Given the description of an element on the screen output the (x, y) to click on. 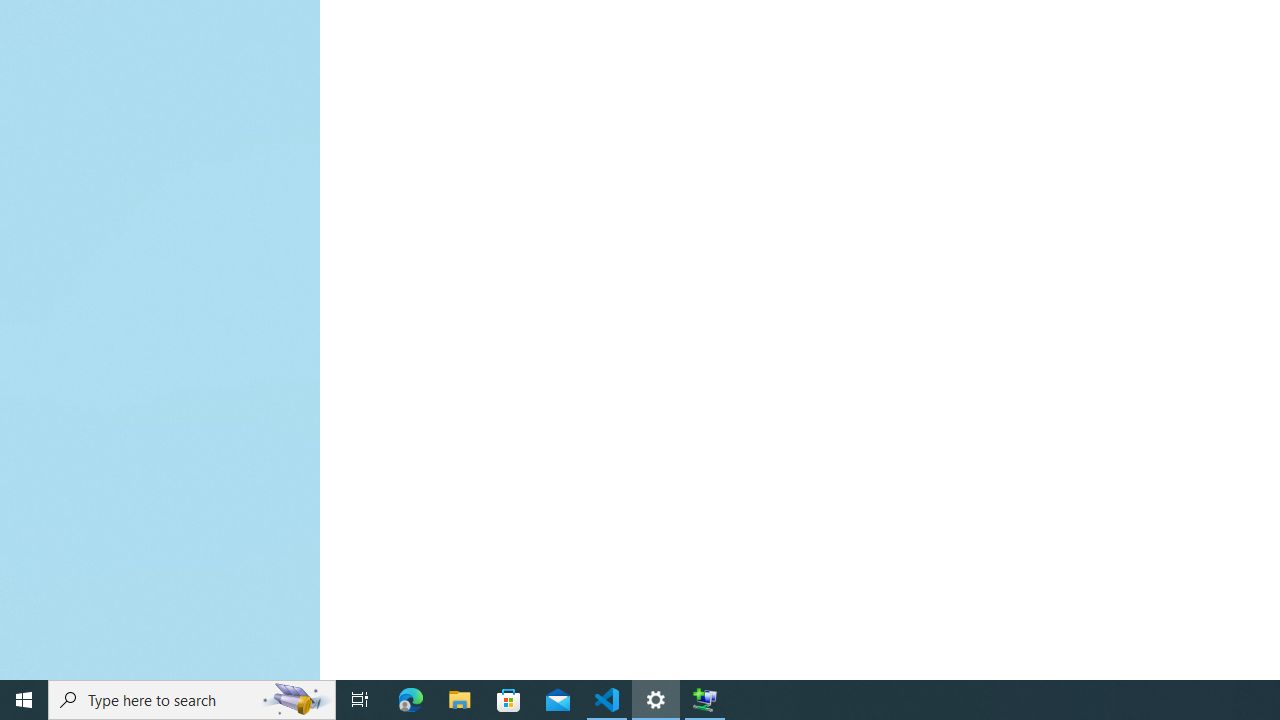
Extensible Wizards Host Process - 1 running window (704, 699)
